Given the description of an element on the screen output the (x, y) to click on. 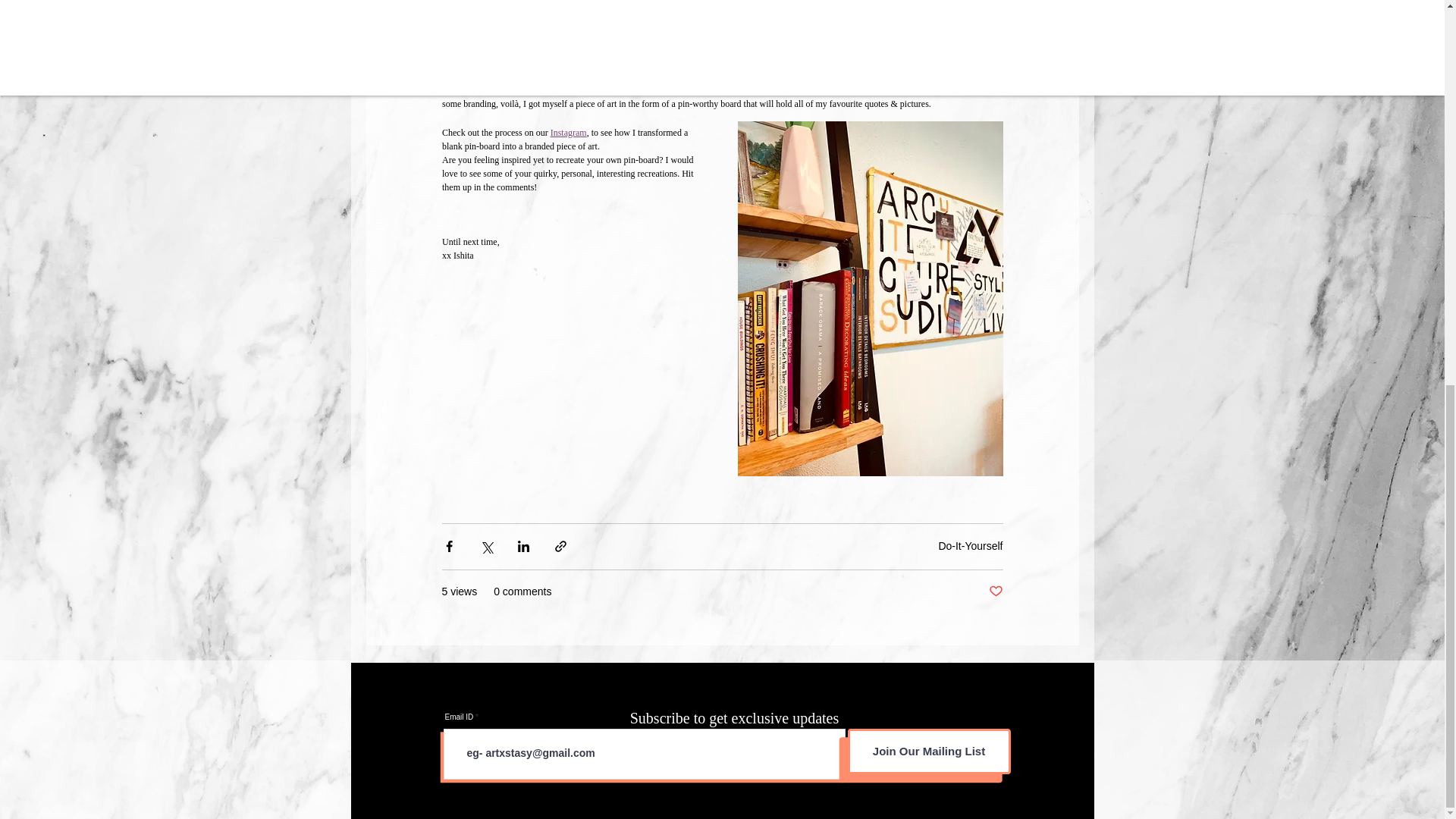
Do-It-Yourself (970, 545)
Post not marked as liked (995, 591)
Join Our Mailing List (928, 750)
Instagram (568, 132)
